Given the description of an element on the screen output the (x, y) to click on. 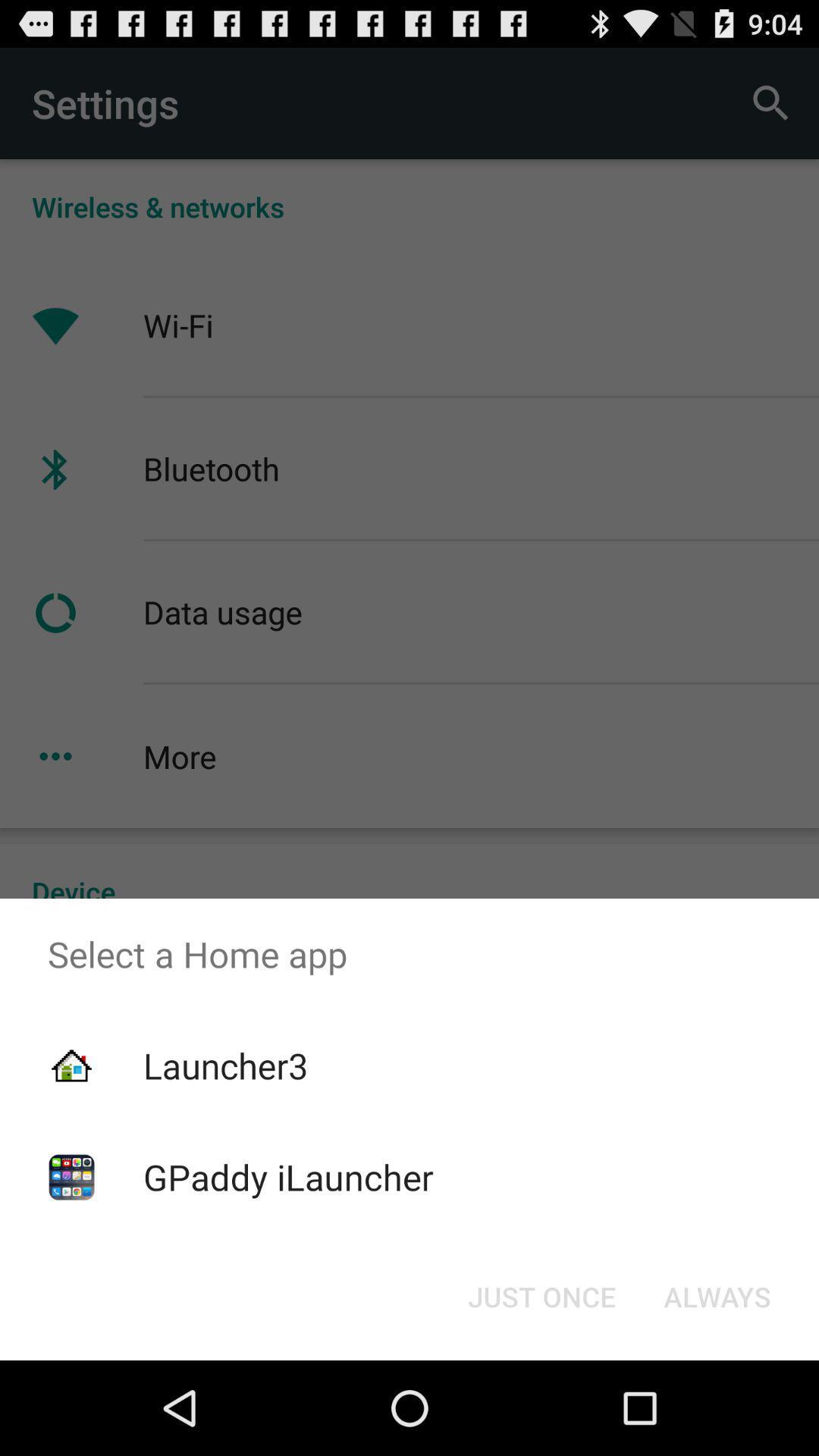
press always item (717, 1296)
